Given the description of an element on the screen output the (x, y) to click on. 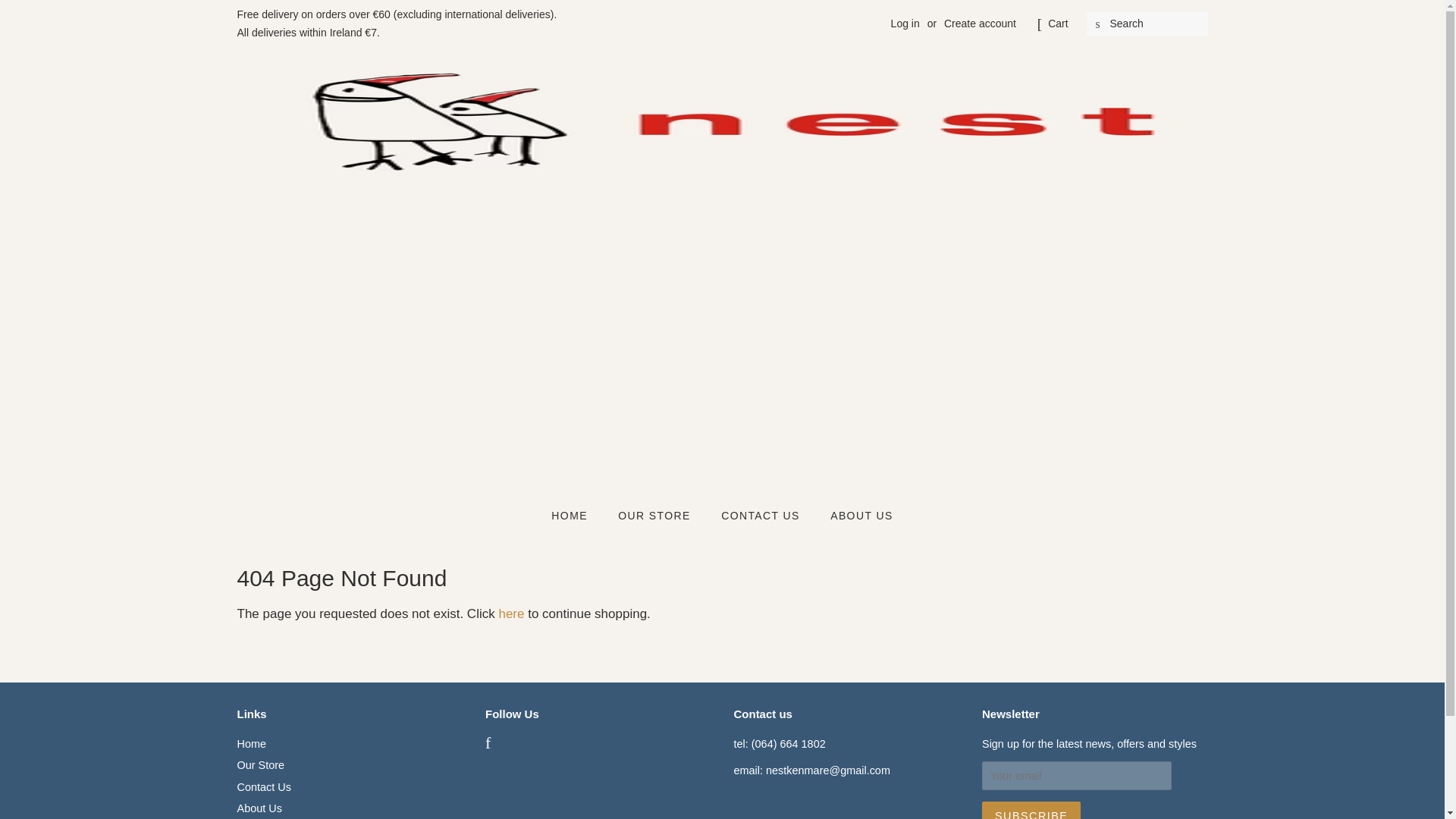
About Us (258, 808)
Our Store (259, 765)
CONTACT US (762, 516)
Cart (1057, 24)
Subscribe (1030, 810)
Contact Us (262, 787)
Create account (979, 23)
OUR STORE (656, 516)
Log in (905, 23)
here (510, 613)
Subscribe (1030, 810)
Home (250, 743)
SEARCH (1097, 24)
ABOUT US (855, 516)
HOME (576, 516)
